Given the description of an element on the screen output the (x, y) to click on. 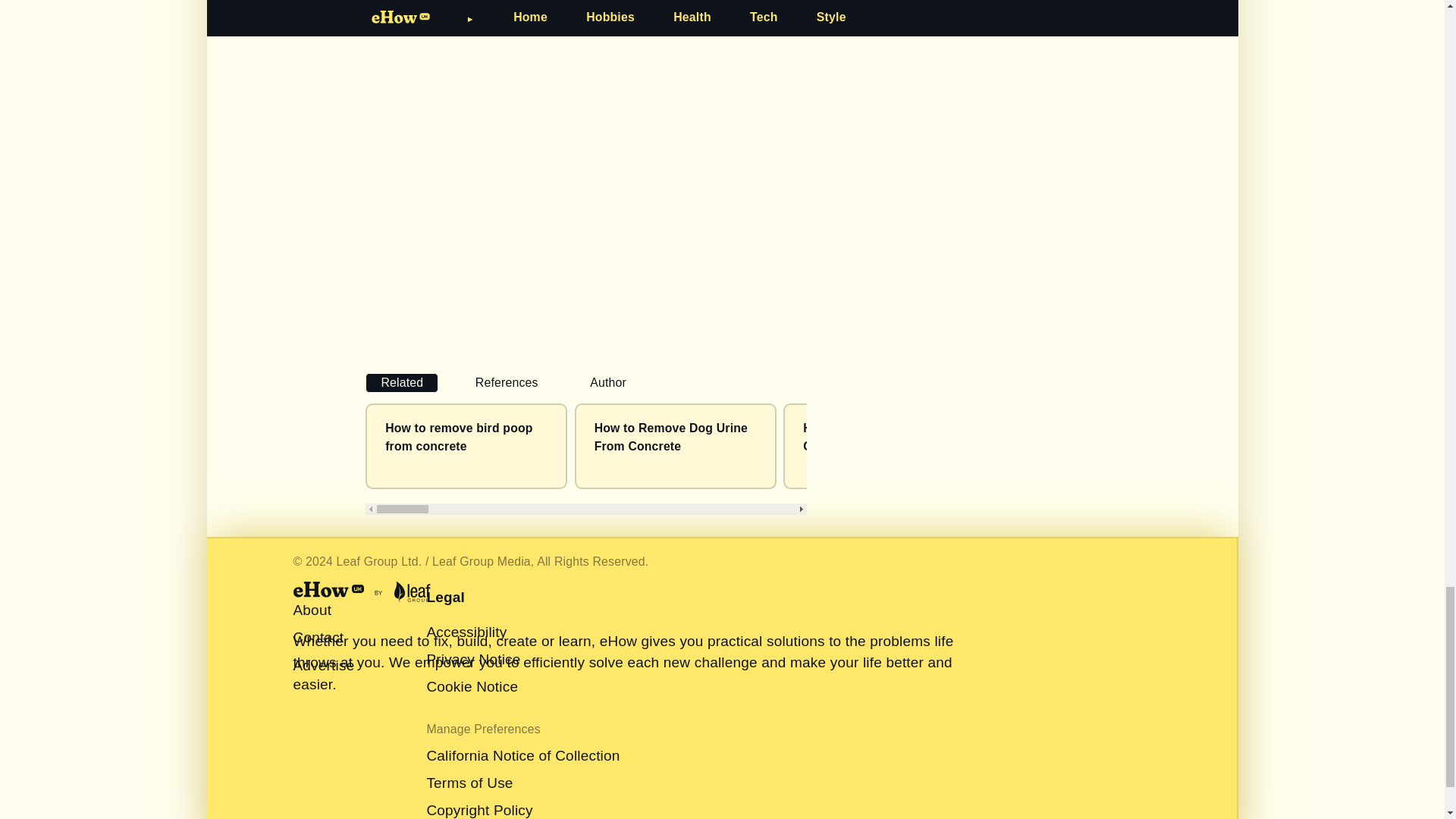
How to Clean Patina on a Concrete Window... (876, 436)
Contact (317, 585)
Manage Preferences (483, 676)
Privacy Notice (472, 607)
How to remove bird poop from concrete (458, 436)
Advertise (322, 612)
Terms of Use (469, 731)
Copyright Policy (479, 758)
About (311, 558)
Cookie Notice (472, 634)
